Given the description of an element on the screen output the (x, y) to click on. 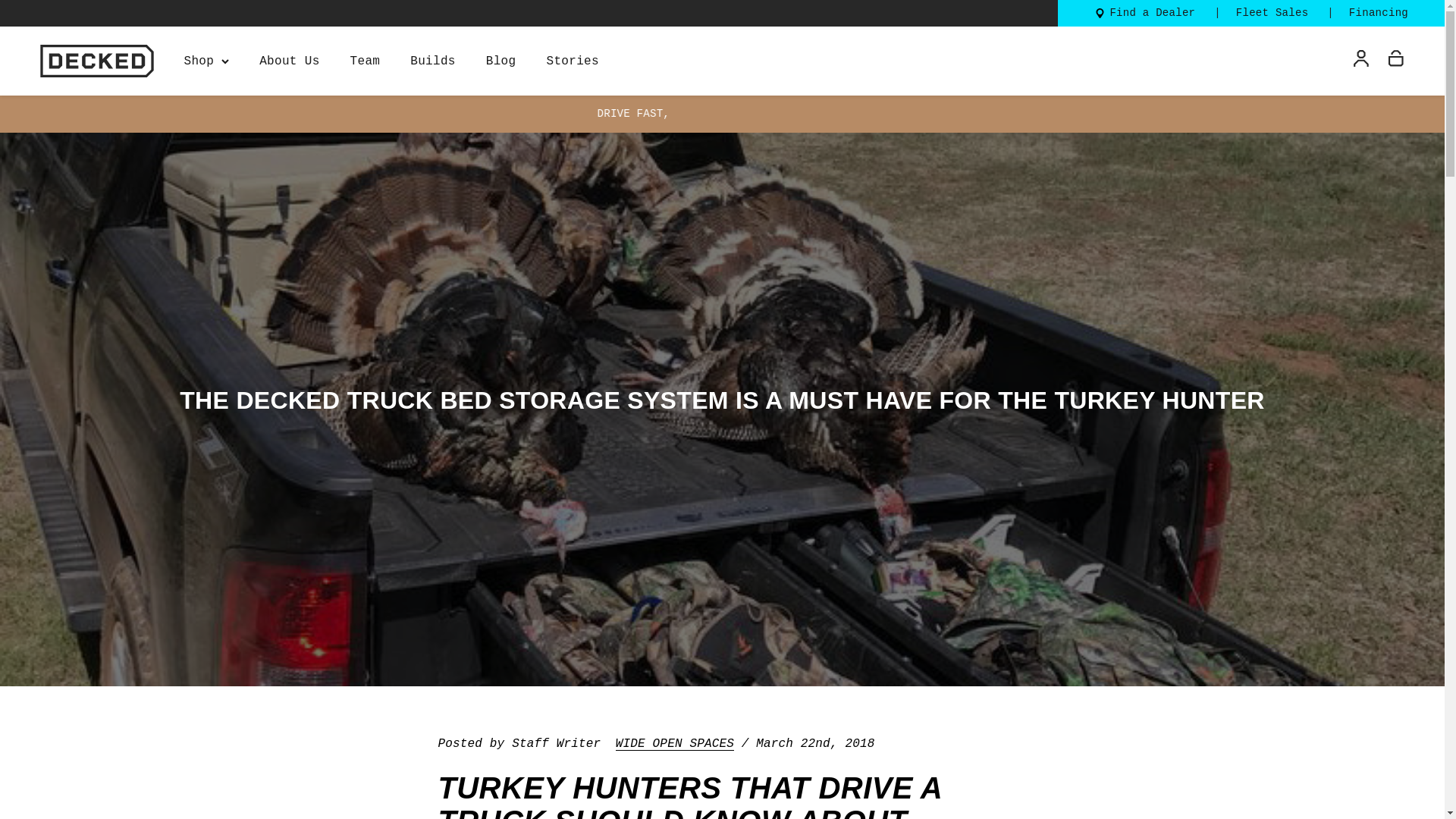
Stories (572, 60)
Team (365, 60)
DECKED (95, 60)
Fleet Sales (1272, 12)
Financing (1378, 12)
Builds (432, 60)
Find a Dealer (1152, 12)
About Us (288, 60)
Blog (501, 60)
